Given the description of an element on the screen output the (x, y) to click on. 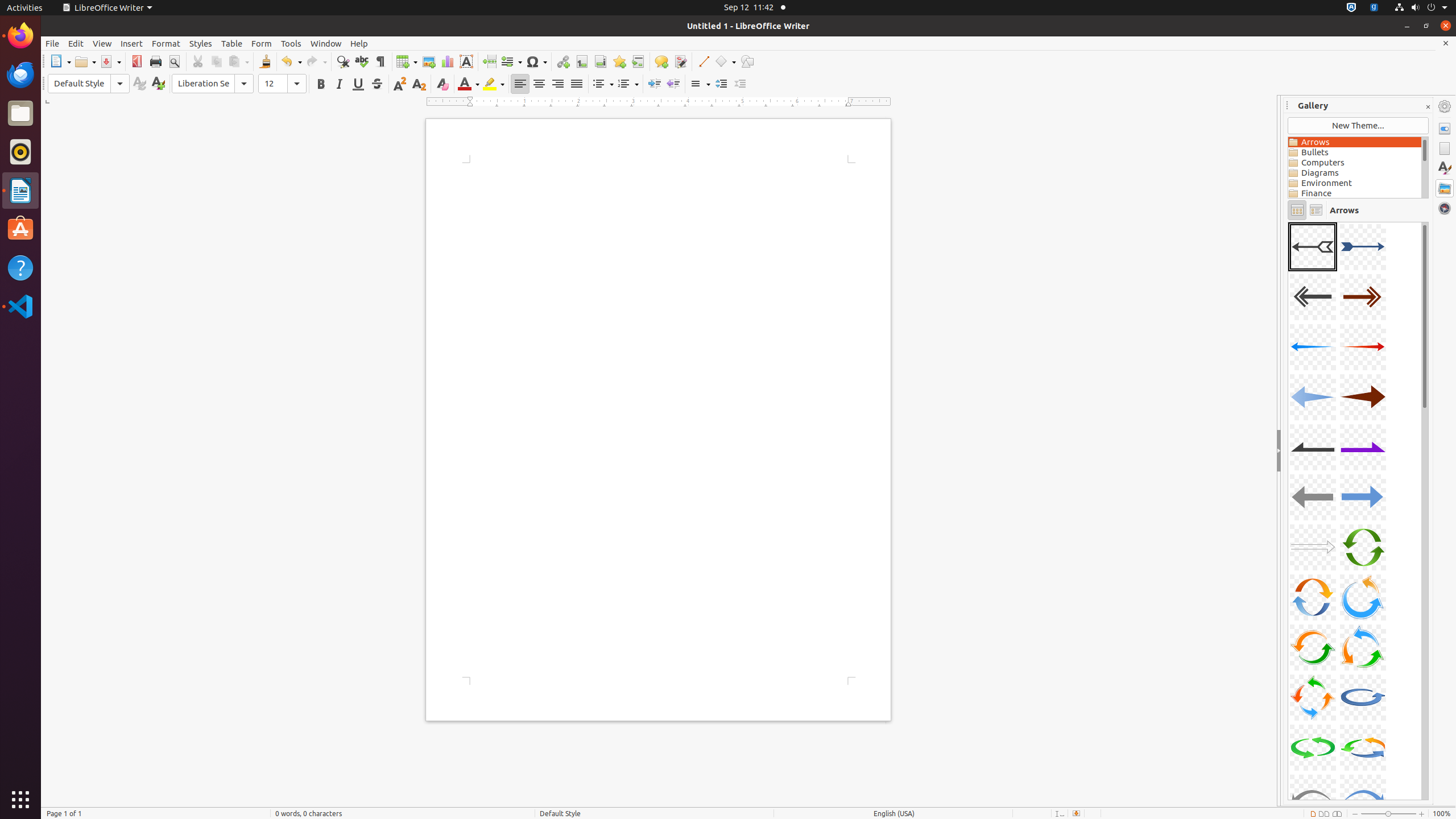
View Element type: menu (102, 43)
A04-Arrow-DarkRed-Right Element type: list-item (1362, 296)
:1.72/StatusNotifierItem Element type: menu (1350, 7)
Arrows Element type: list-item (1354, 142)
PDF Element type: push-button (136, 61)
